Given the description of an element on the screen output the (x, y) to click on. 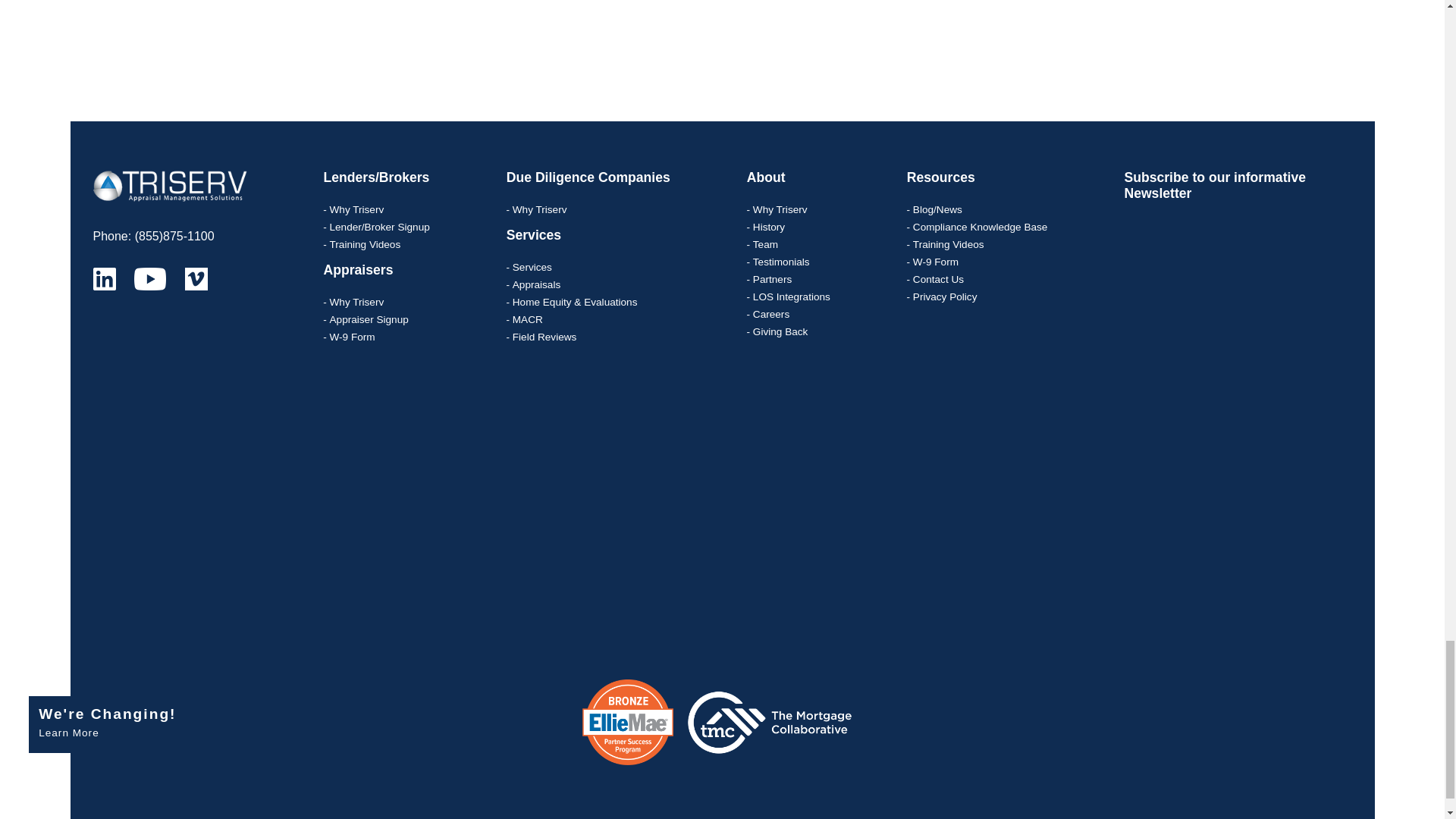
Form 0 (521, 48)
